Given the description of an element on the screen output the (x, y) to click on. 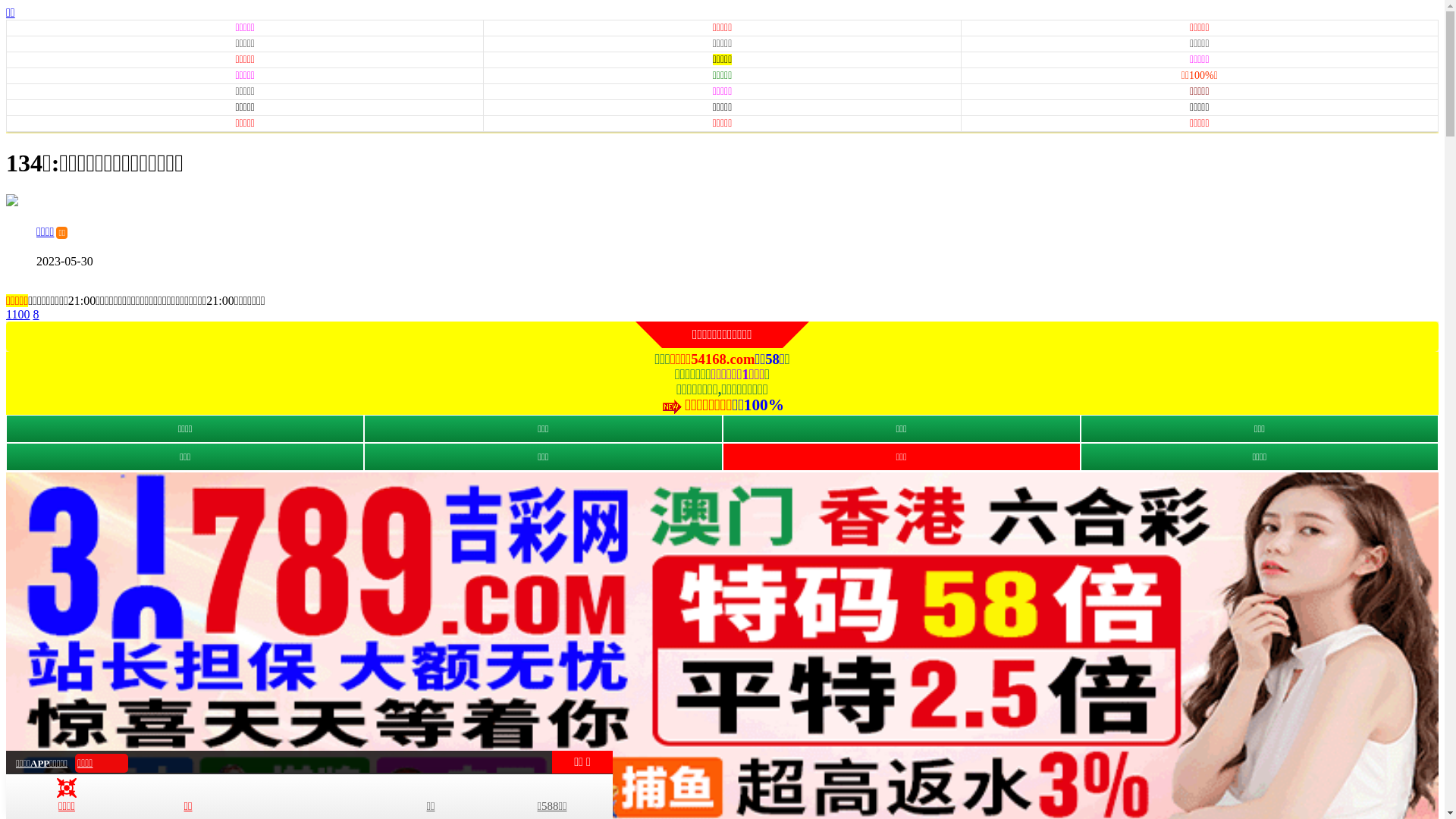
8 Element type: text (35, 313)
1100 Element type: text (17, 313)
